Given the description of an element on the screen output the (x, y) to click on. 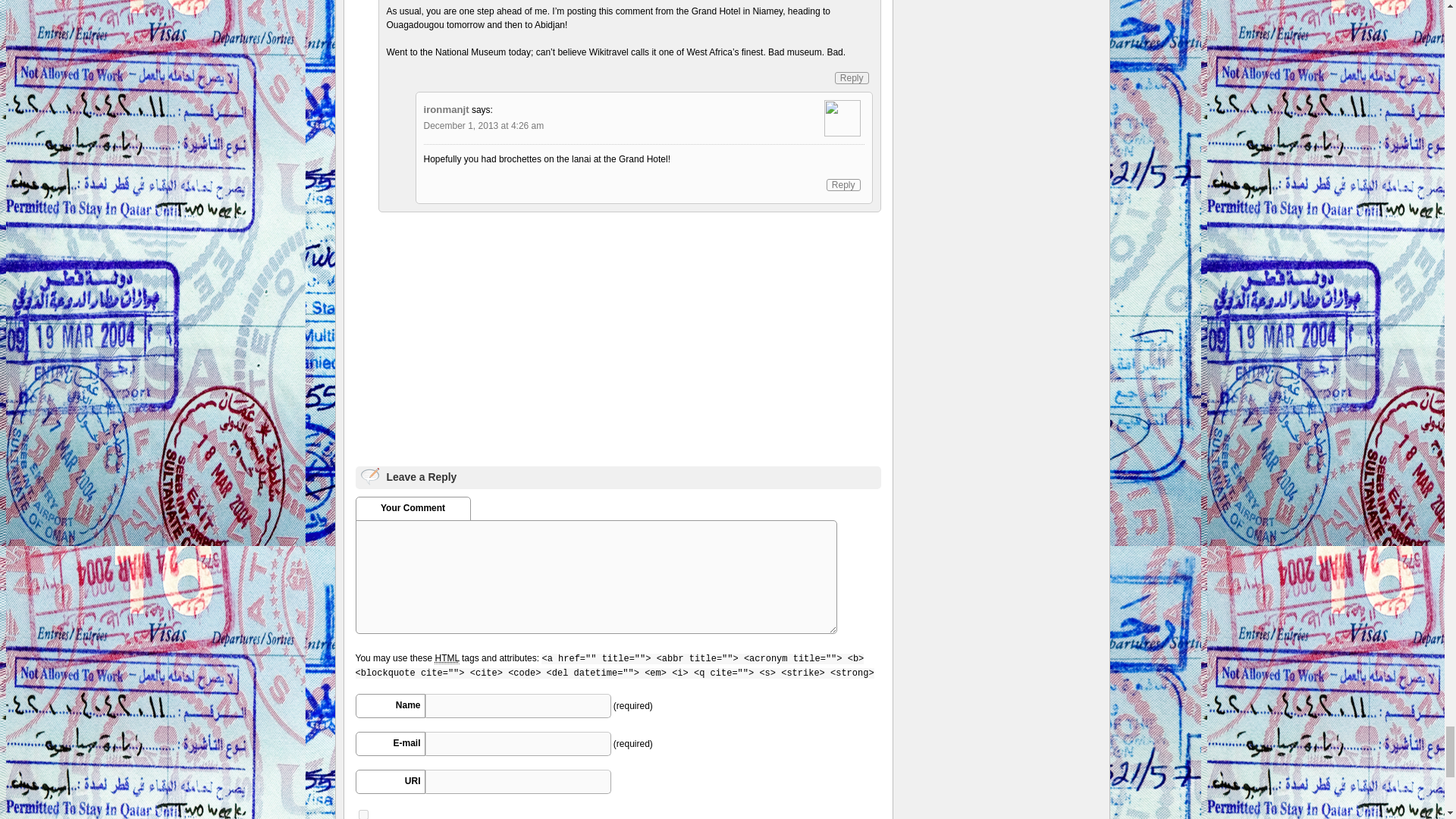
ironmanjt (445, 109)
yes (363, 814)
HyperText Markup Language (445, 658)
Reply (851, 78)
